Given the description of an element on the screen output the (x, y) to click on. 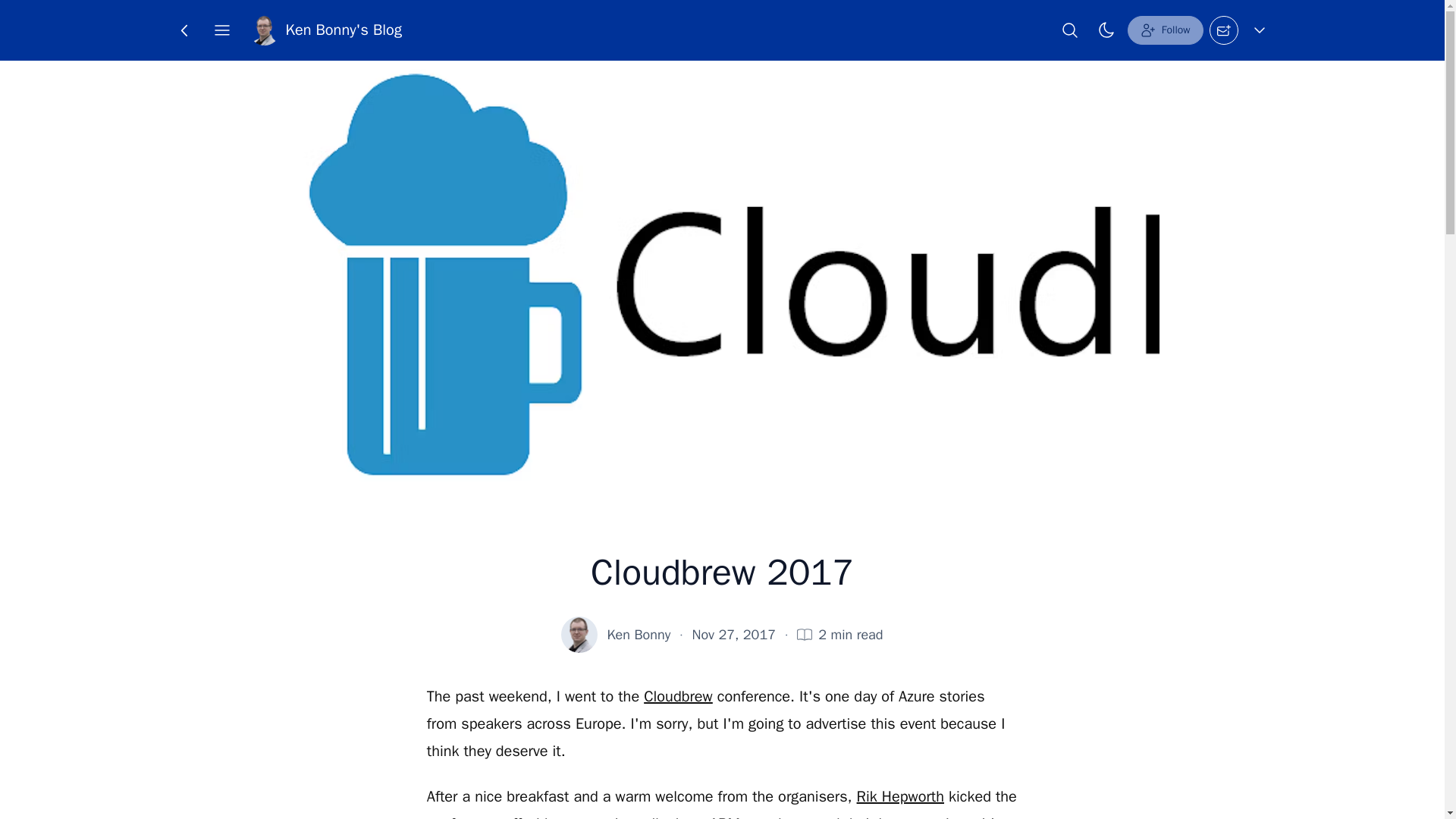
Rik Hepworth (900, 796)
Follow (1165, 30)
Nov 27, 2017 (734, 634)
Ken Bonny's Blog (324, 30)
Ken Bonny (638, 634)
Cloudbrew (678, 696)
